Given the description of an element on the screen output the (x, y) to click on. 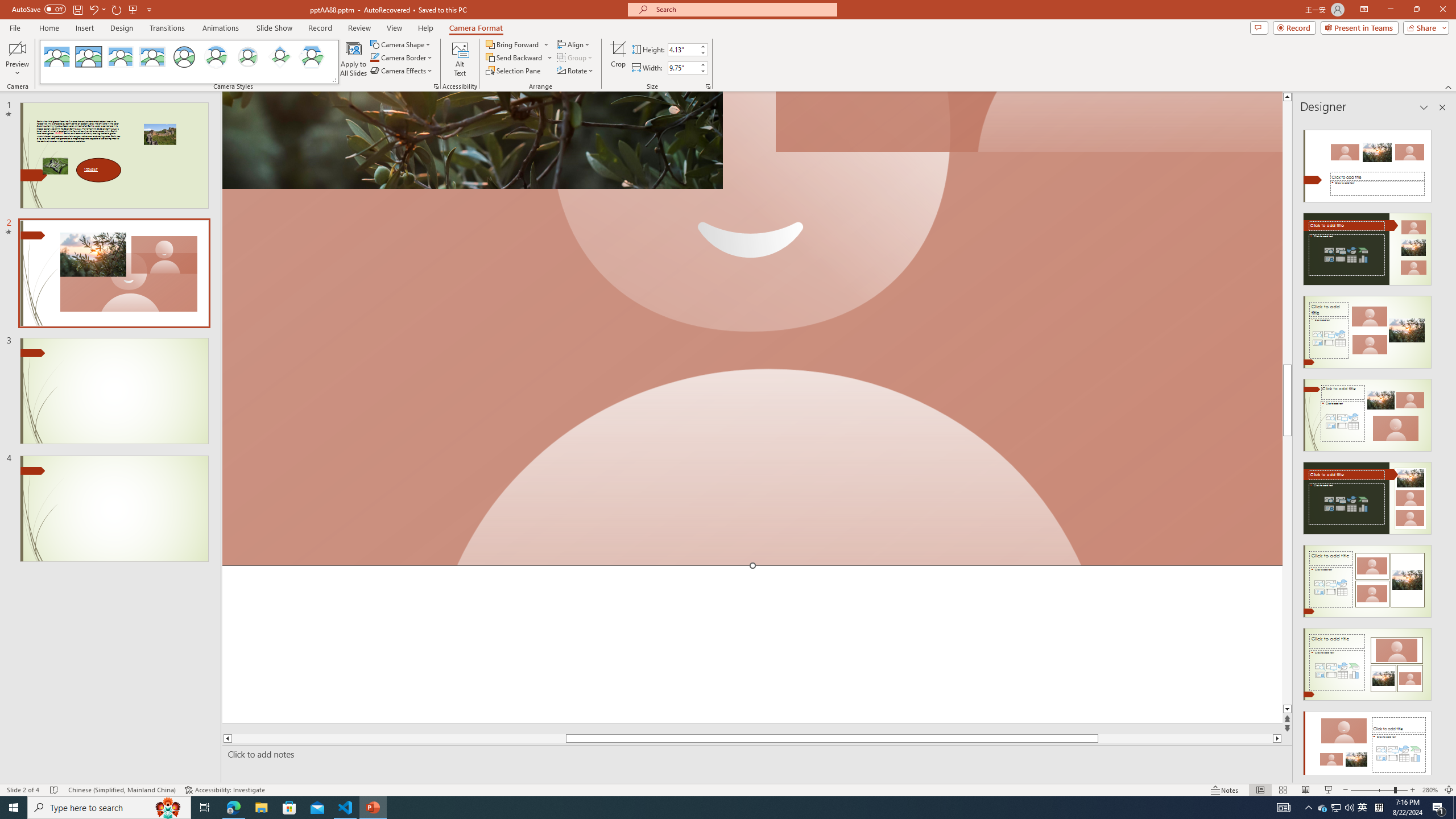
Design Idea (1366, 743)
Zoom 280% (1430, 790)
Send Backward (518, 56)
Apply to All Slides (353, 58)
Crop (617, 58)
Running applications (700, 807)
Bring Forward (513, 44)
